Given the description of an element on the screen output the (x, y) to click on. 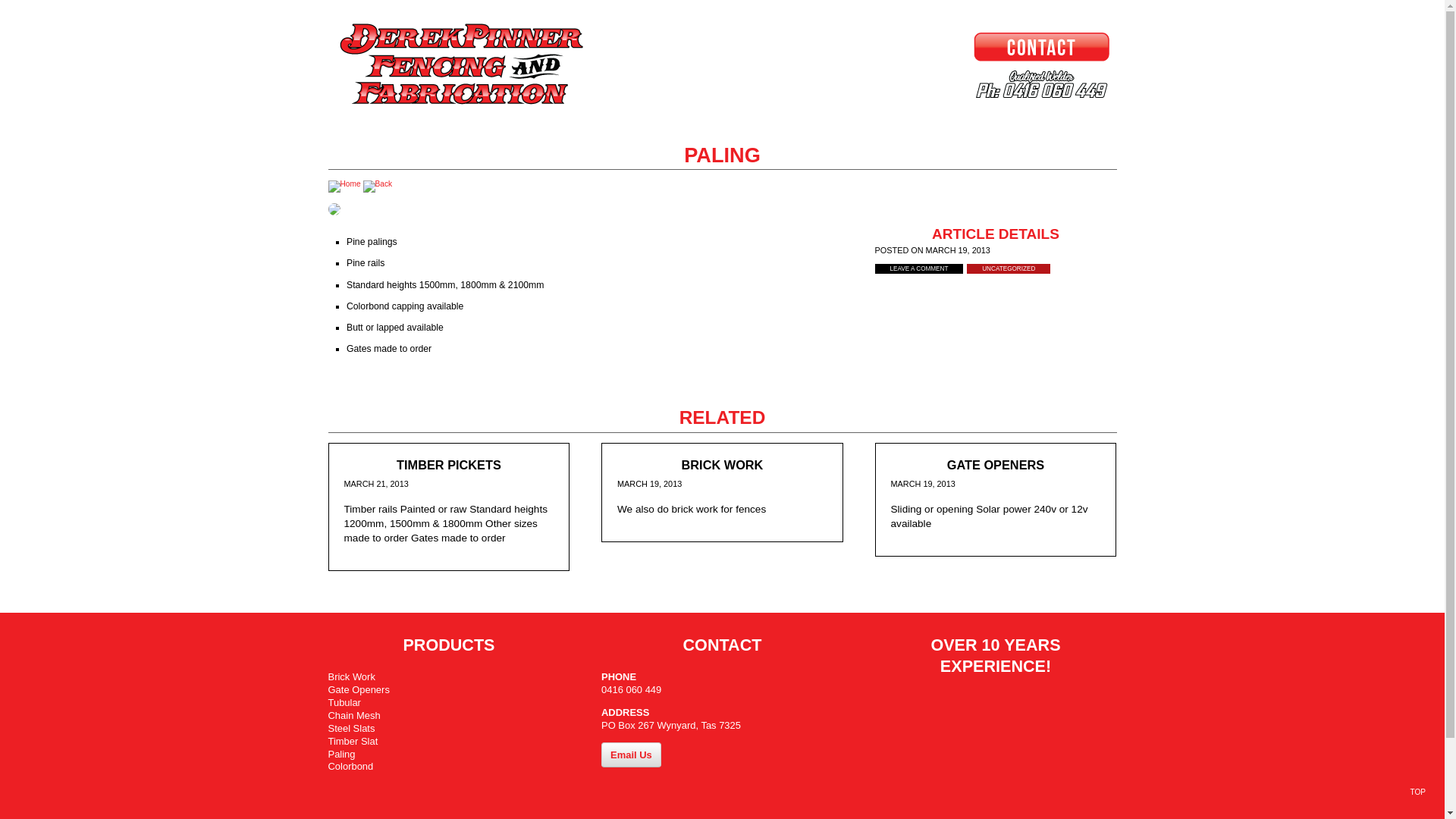
Contact form Element type: hover (926, 46)
LEAVE A COMMENT Element type: text (919, 268)
Email Us Element type: text (631, 754)
Phone us on 0416060 449 Element type: hover (926, 84)
Derek Pinner Fencing Element type: hover (516, 64)
TOP Element type: text (1417, 791)
BRICK WORK
MARCH 19, 2013
We also do brick work for fences Element type: text (722, 492)
UNCATEGORIZED Element type: text (1008, 268)
